Given the description of an element on the screen output the (x, y) to click on. 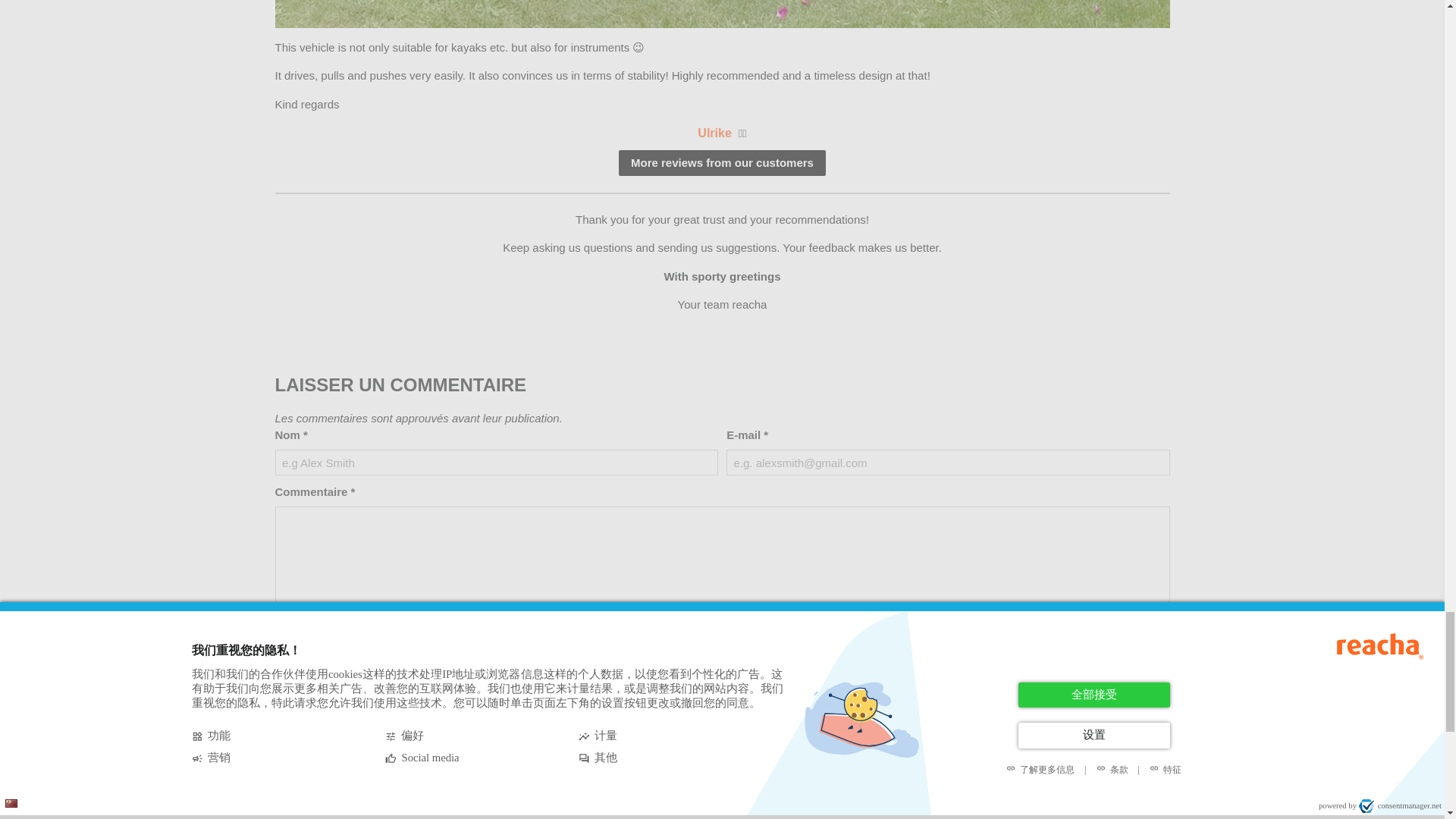
Poster le commentaire (347, 629)
